Given the description of an element on the screen output the (x, y) to click on. 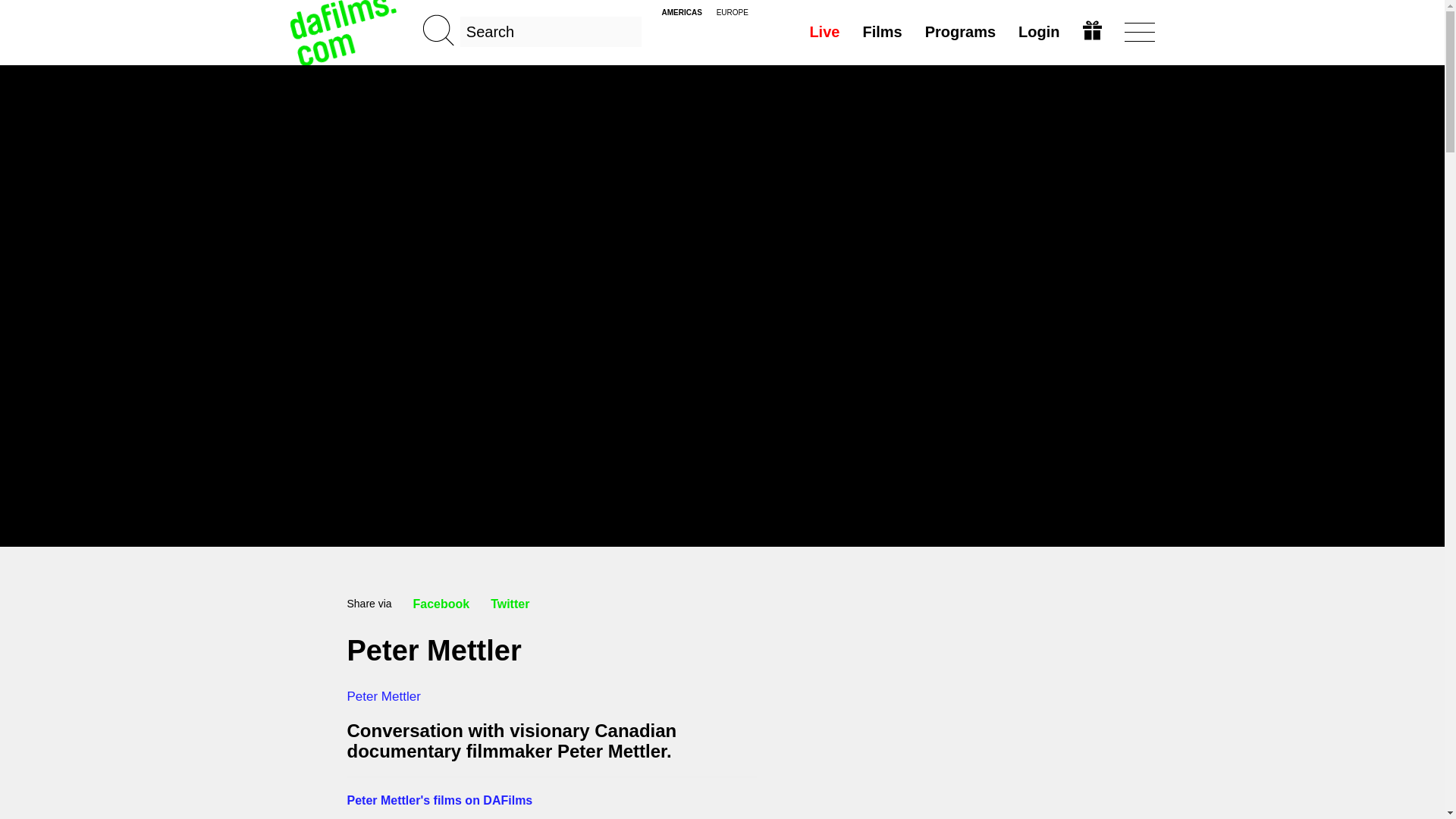
Login (1038, 31)
EUROPE (732, 12)
Twitter (509, 604)
Films (881, 31)
Home (343, 32)
Peter Mettler's films on DAFilms (439, 799)
Programs (960, 31)
Facebook (441, 604)
